Given the description of an element on the screen output the (x, y) to click on. 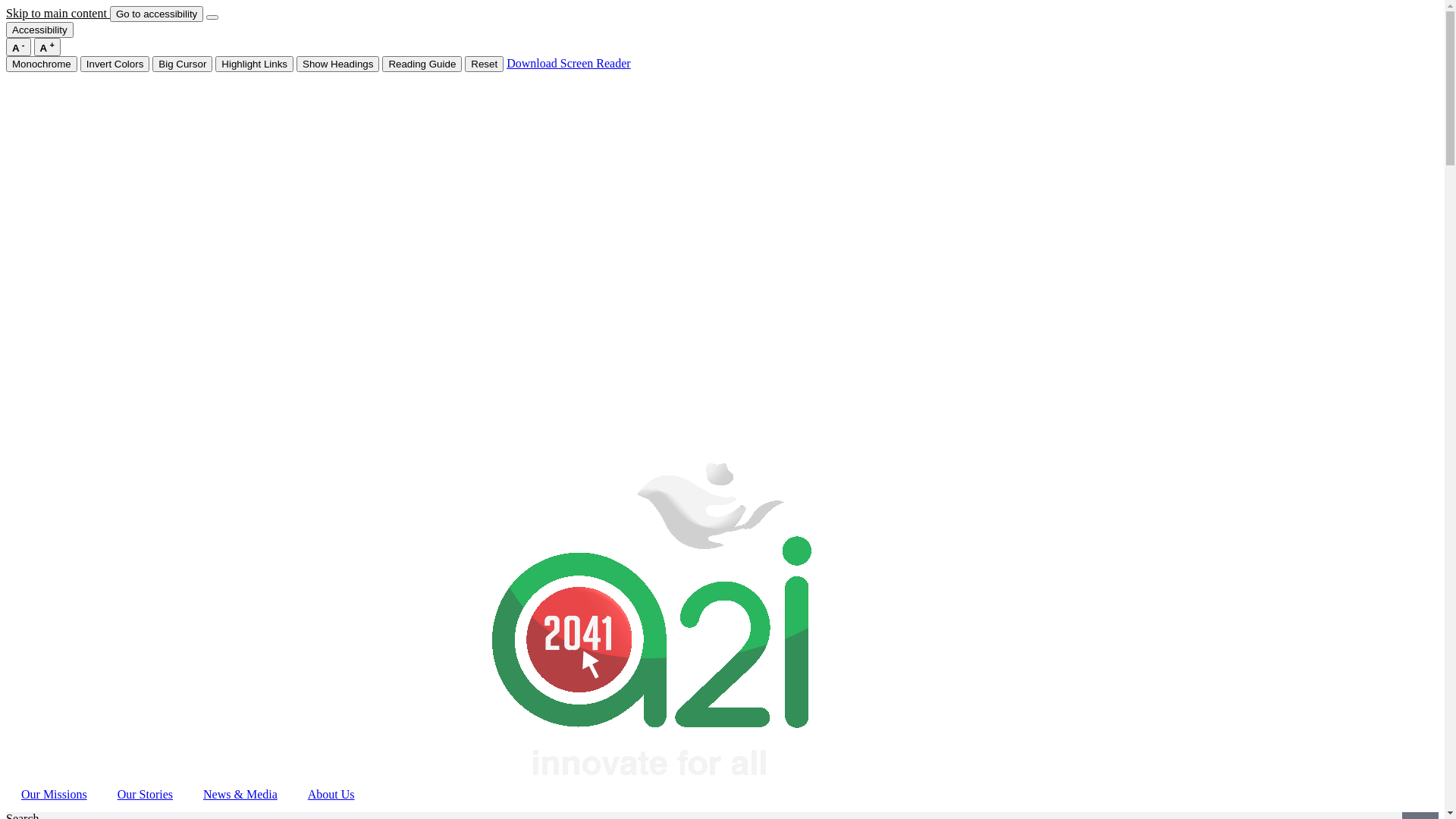
A + Element type: text (47, 46)
Reading Guide Element type: text (421, 64)
Big Cursor Element type: text (182, 64)
A - Element type: text (18, 46)
Accessibility Element type: text (39, 29)
Go to accessibility Element type: text (156, 13)
Show Headings Element type: text (337, 64)
Skip to main content Element type: text (57, 12)
About Us Element type: text (331, 794)
Reset Element type: text (483, 64)
Invert Colors Element type: text (115, 64)
Our Stories Element type: text (145, 794)
Monochrome Element type: text (41, 64)
Our Missions Element type: text (54, 794)
News & Media Element type: text (240, 794)
Download Screen Reader Element type: text (568, 62)
Highlight Links Element type: text (254, 64)
